Given the description of an element on the screen output the (x, y) to click on. 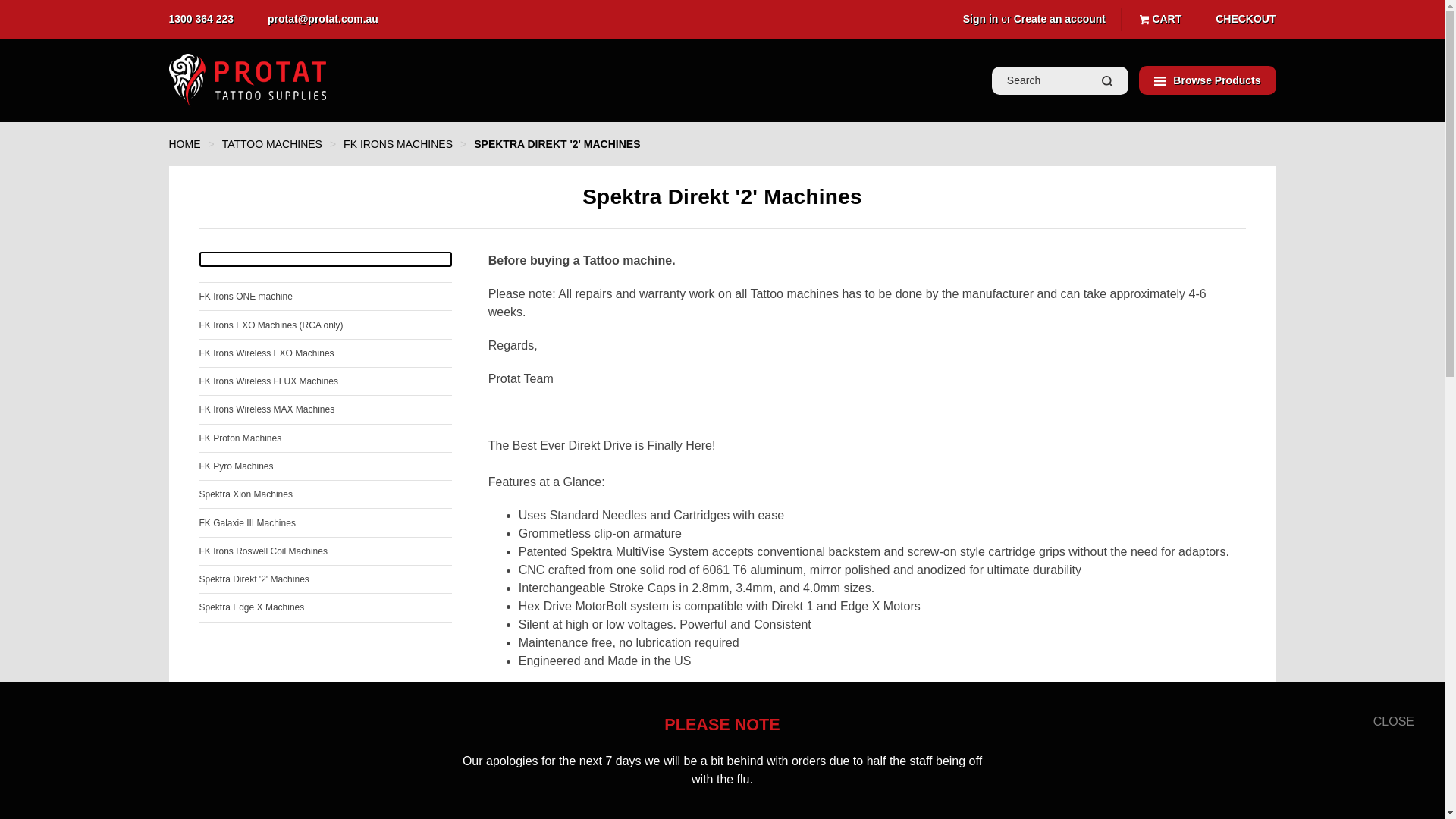
FK Irons Roswell Coil Machines (324, 550)
FK Galaxie III Machines (324, 522)
Spektra Xion Machines (324, 494)
FK Irons Wireless EXO Machines (324, 352)
Sign in (980, 19)
Spektra Edge X Machines (324, 606)
Spektra Direkt '2' Machines (324, 579)
Create an account (1059, 19)
Protat (247, 80)
1300 364 223 (200, 19)
FK Irons Wireless MAX Machines (324, 409)
FK Irons Wireless FLUX Machines (324, 381)
FK Pyro Machines (324, 466)
FK Irons ONE machine (324, 296)
CHECKOUT (1245, 19)
